Given the description of an element on the screen output the (x, y) to click on. 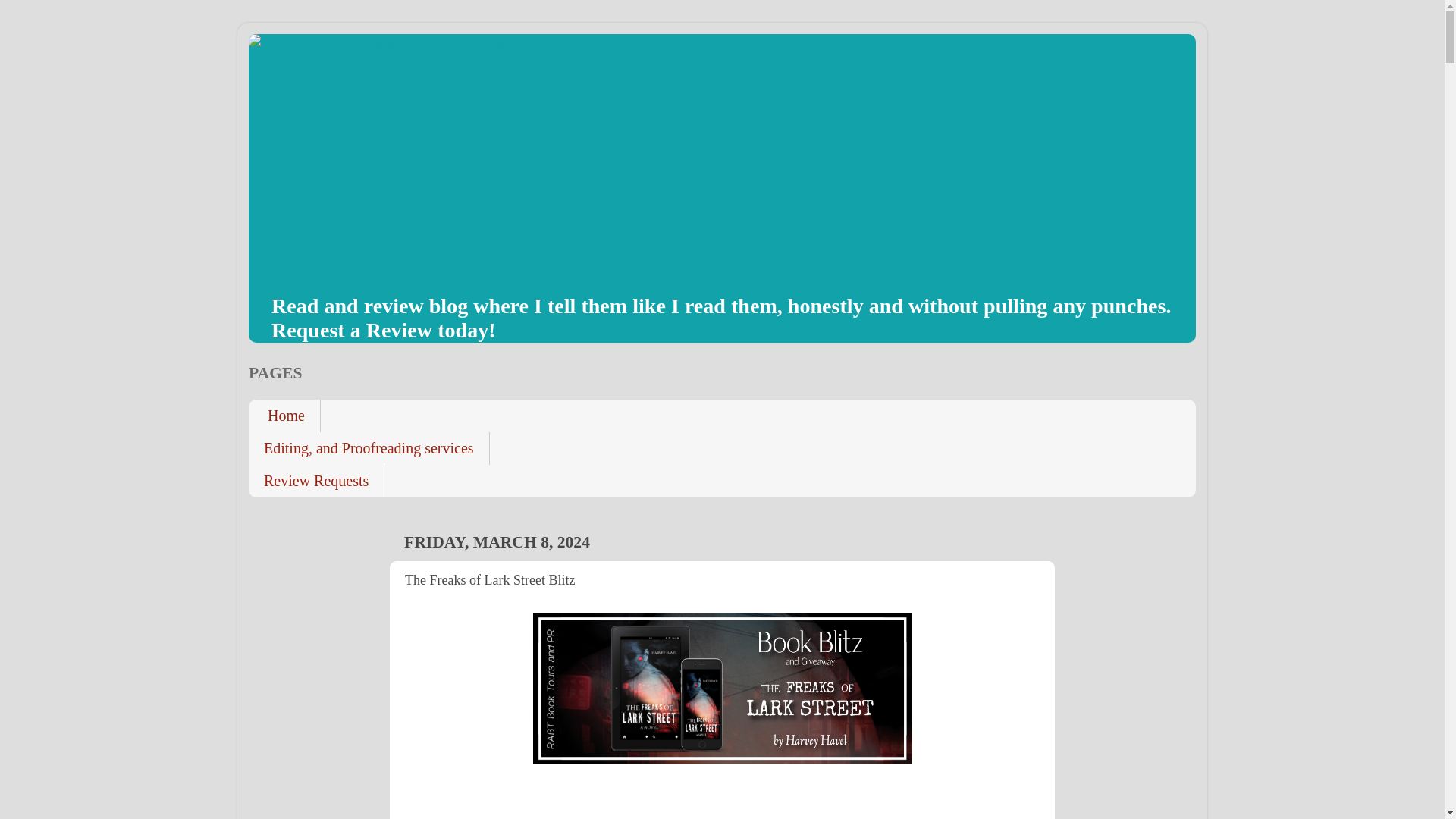
Home (284, 415)
Review Requests (316, 481)
Editing, and Proofreading services (368, 448)
